Given the description of an element on the screen output the (x, y) to click on. 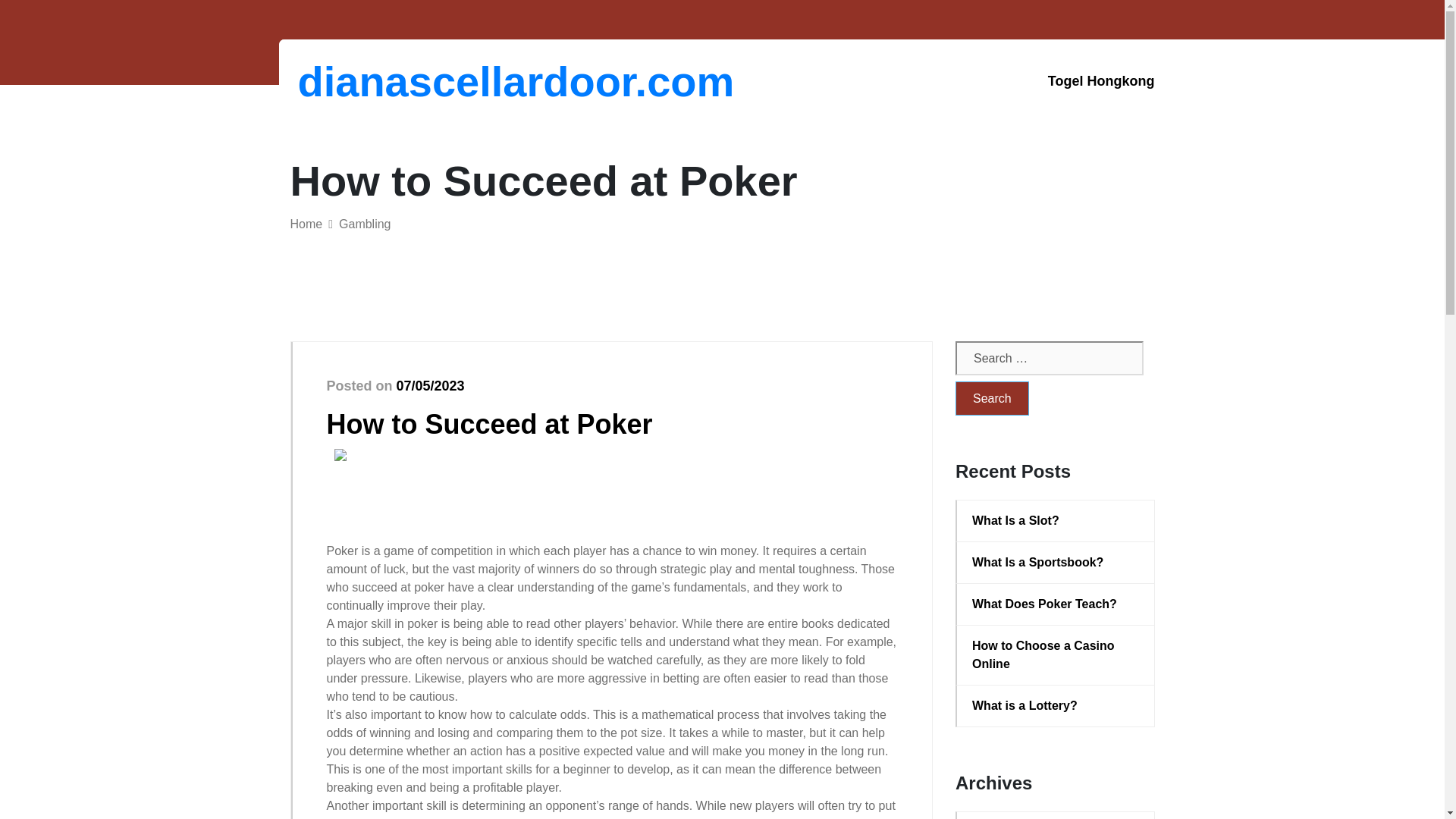
Search (992, 398)
Togel Hongkong (1101, 81)
What Does Poker Teach? (1055, 604)
Togel Hongkong (1101, 81)
Home (305, 223)
Gambling (364, 223)
Search (992, 398)
Search (992, 398)
What is a Lottery? (1055, 705)
How to Choose a Casino Online (1055, 655)
dianascellardoor.com (376, 81)
How to Succeed at Poker (489, 423)
What Is a Sportsbook? (1055, 562)
What Is a Slot? (1055, 520)
